Given the description of an element on the screen output the (x, y) to click on. 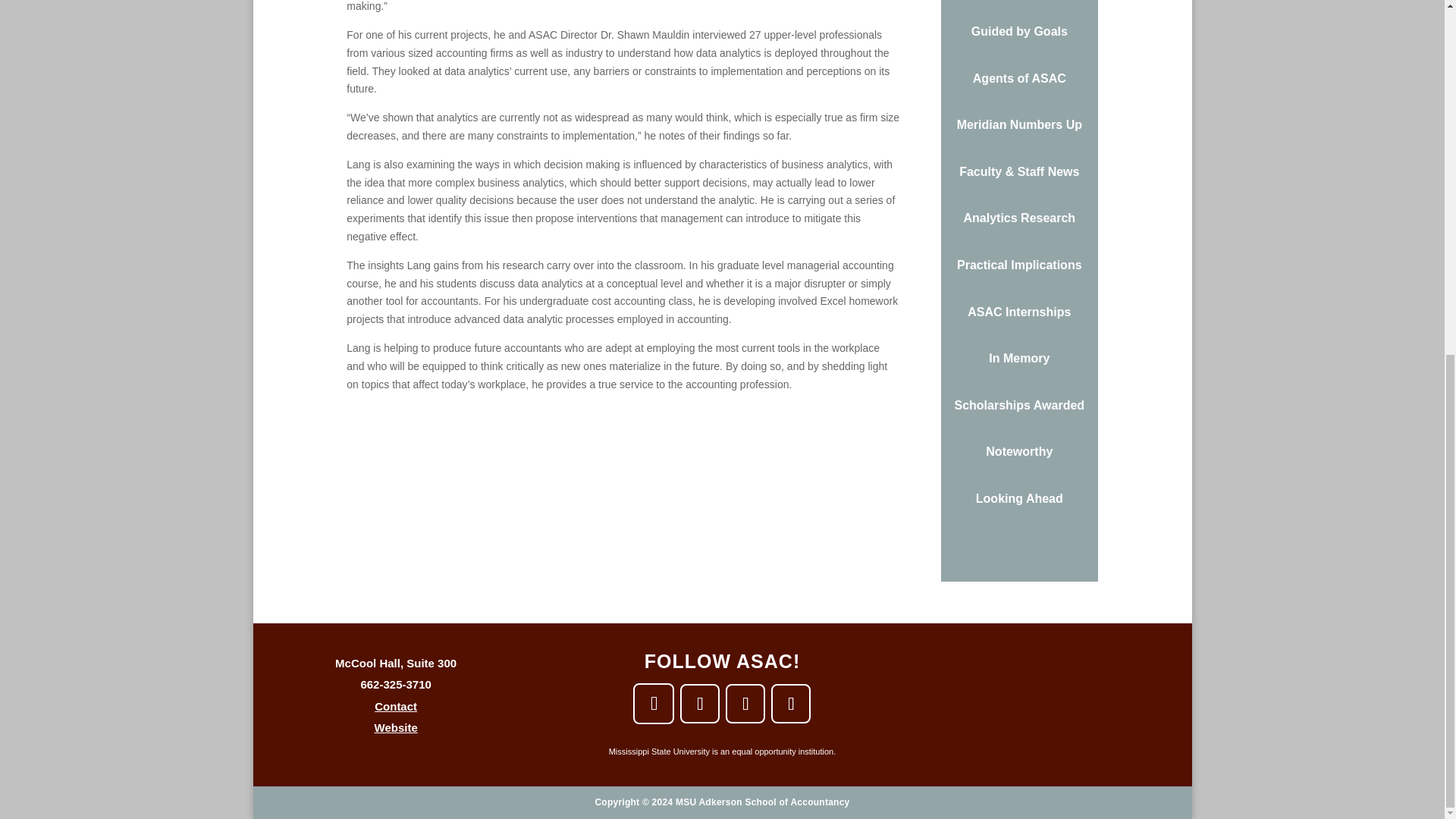
Follow on LinkedIn (745, 703)
Follow on X (699, 703)
Follow on Instagram (790, 703)
Follow on Facebook (653, 703)
